Given the description of an element on the screen output the (x, y) to click on. 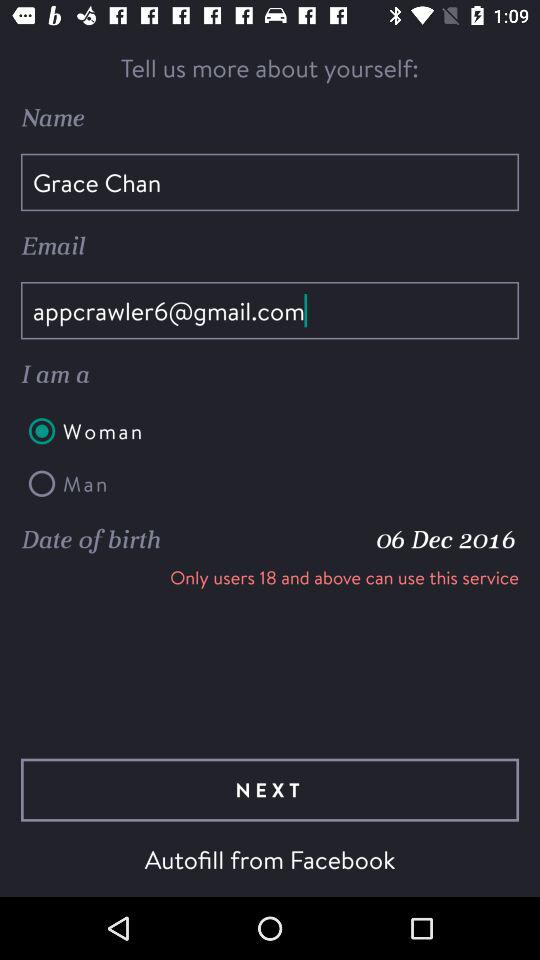
swipe to the appcrawler6@gmail.com icon (269, 310)
